Given the description of an element on the screen output the (x, y) to click on. 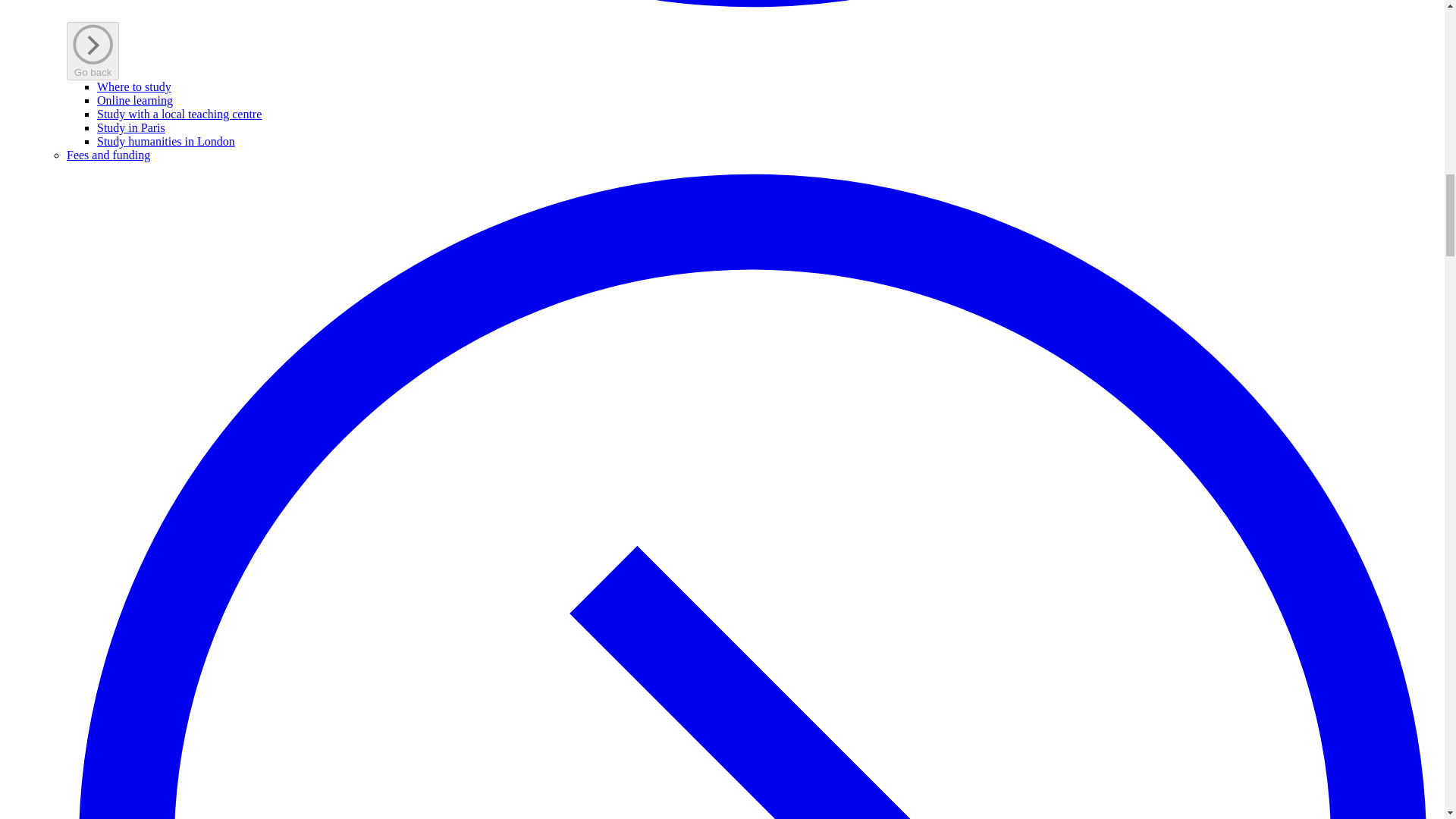
Online learning (135, 100)
Study humanities in London (165, 141)
Study with a local teaching centre (179, 113)
Where to study (134, 86)
Study in Paris (131, 127)
Go back (92, 51)
